Given the description of an element on the screen output the (x, y) to click on. 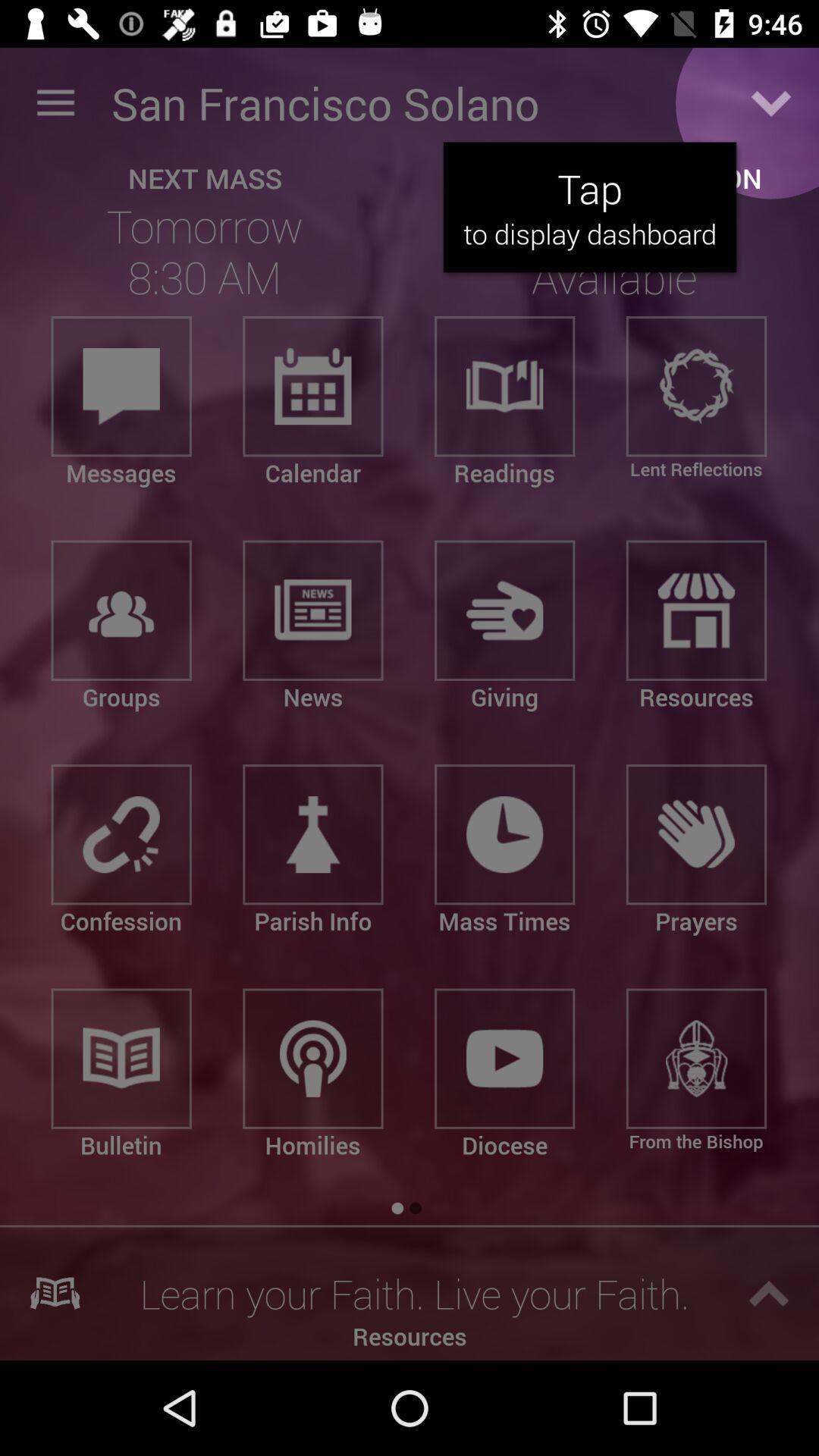
press icon next to the san francisco solano item (55, 103)
